Given the description of an element on the screen output the (x, y) to click on. 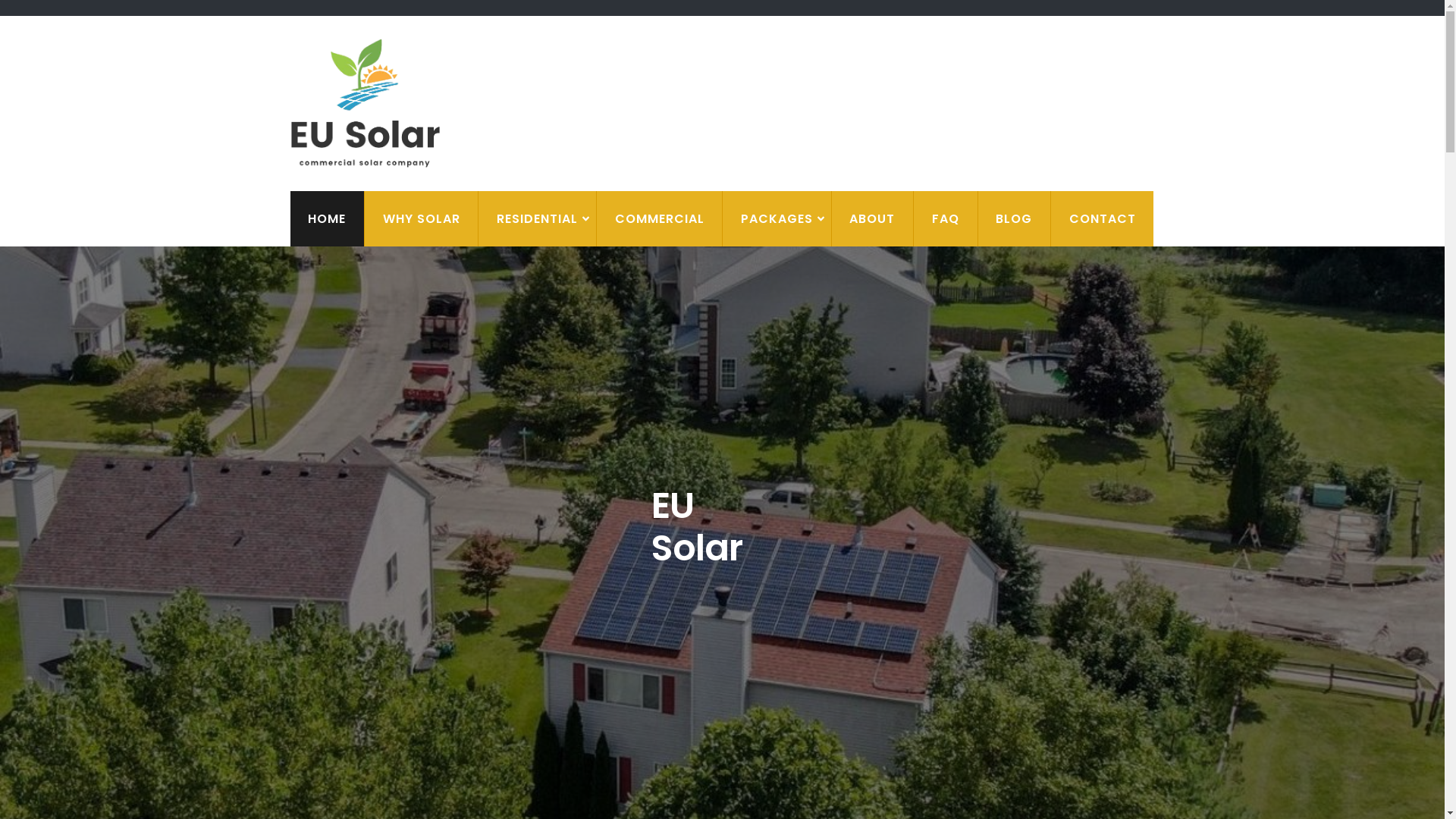
FAQ Element type: text (944, 218)
PACKAGES Element type: text (776, 218)
HOME Element type: text (326, 218)
RESIDENTIAL Element type: text (536, 218)
BLOG Element type: text (1014, 218)
CONTACT Element type: text (1102, 218)
COMMERCIAL Element type: text (658, 218)
EU Solar Element type: text (689, 120)
WHY SOLAR Element type: text (420, 218)
ABOUT Element type: text (872, 218)
